Given the description of an element on the screen output the (x, y) to click on. 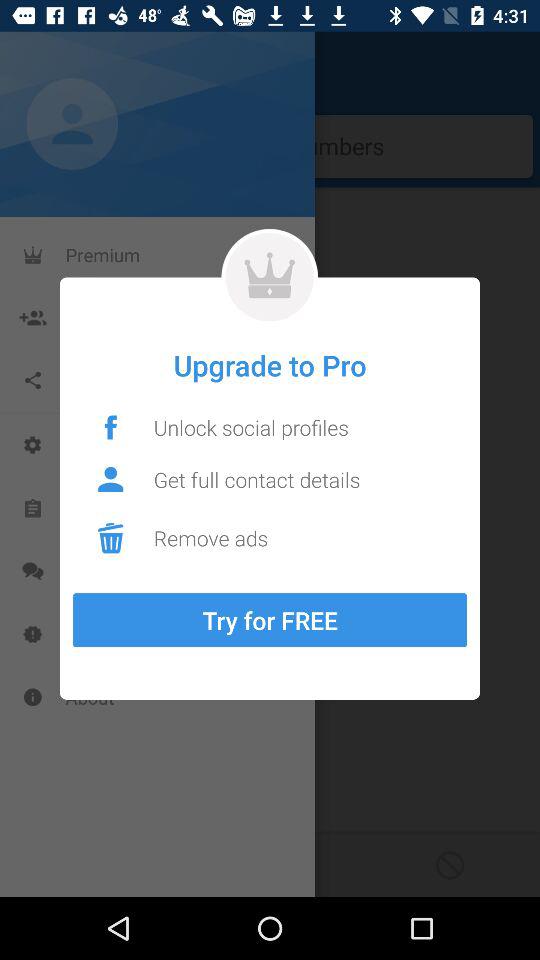
flip until the try for free item (269, 620)
